Given the description of an element on the screen output the (x, y) to click on. 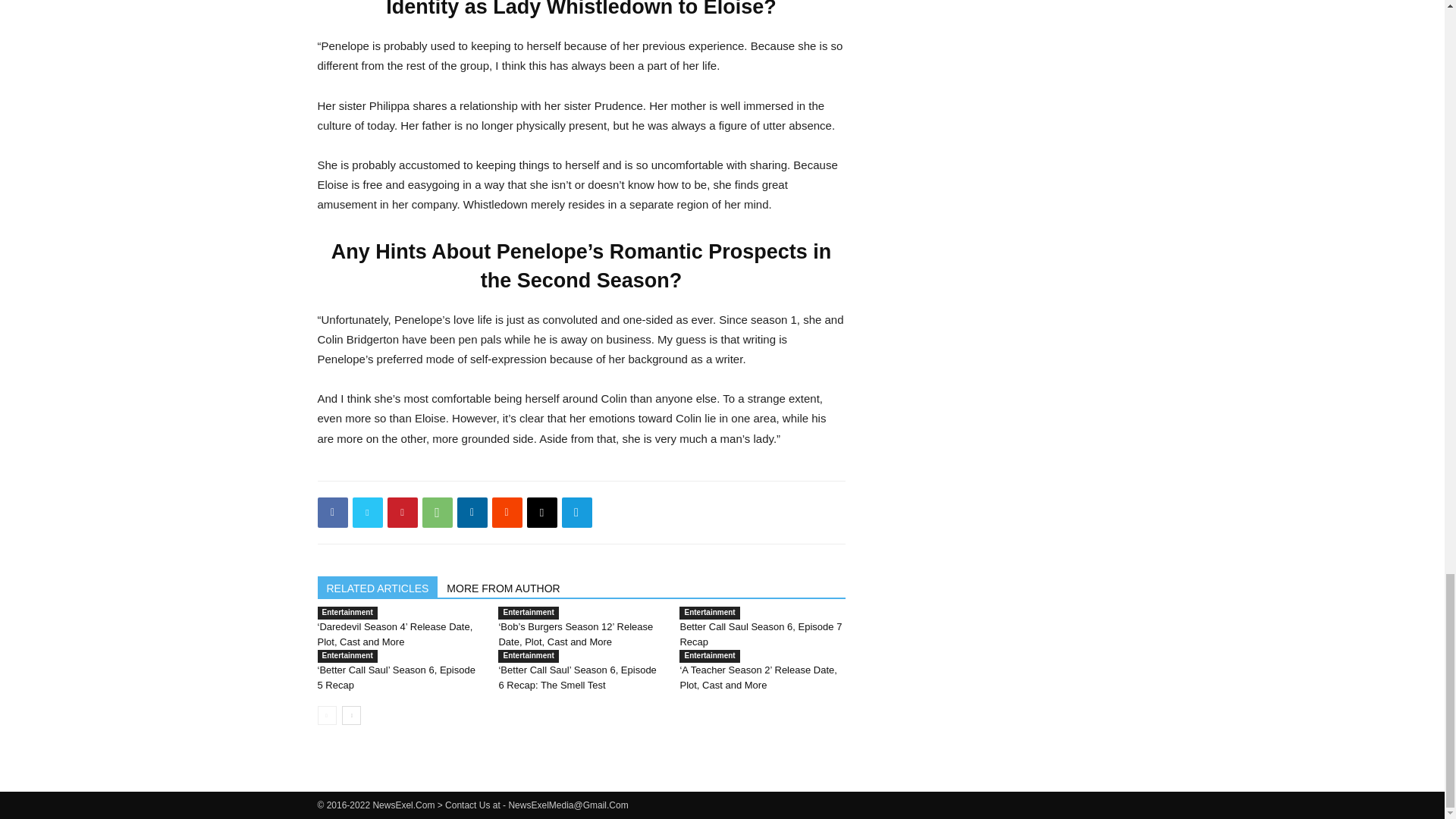
Facebook (332, 512)
Pinterest (401, 512)
WhatsApp (436, 512)
Linkedin (471, 512)
Twitter (366, 512)
